Given the description of an element on the screen output the (x, y) to click on. 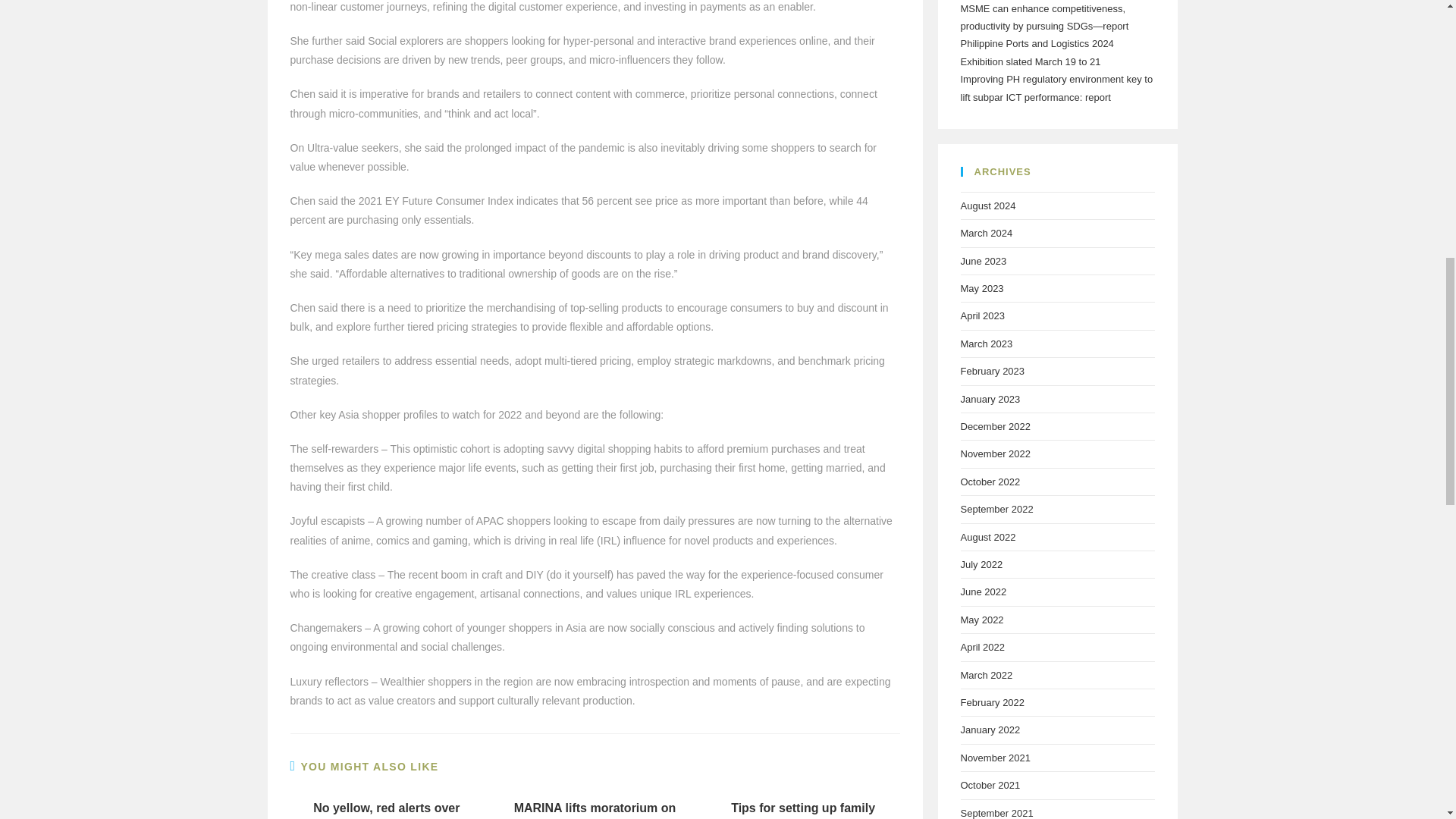
Tips for setting up family office (803, 809)
